Given the description of an element on the screen output the (x, y) to click on. 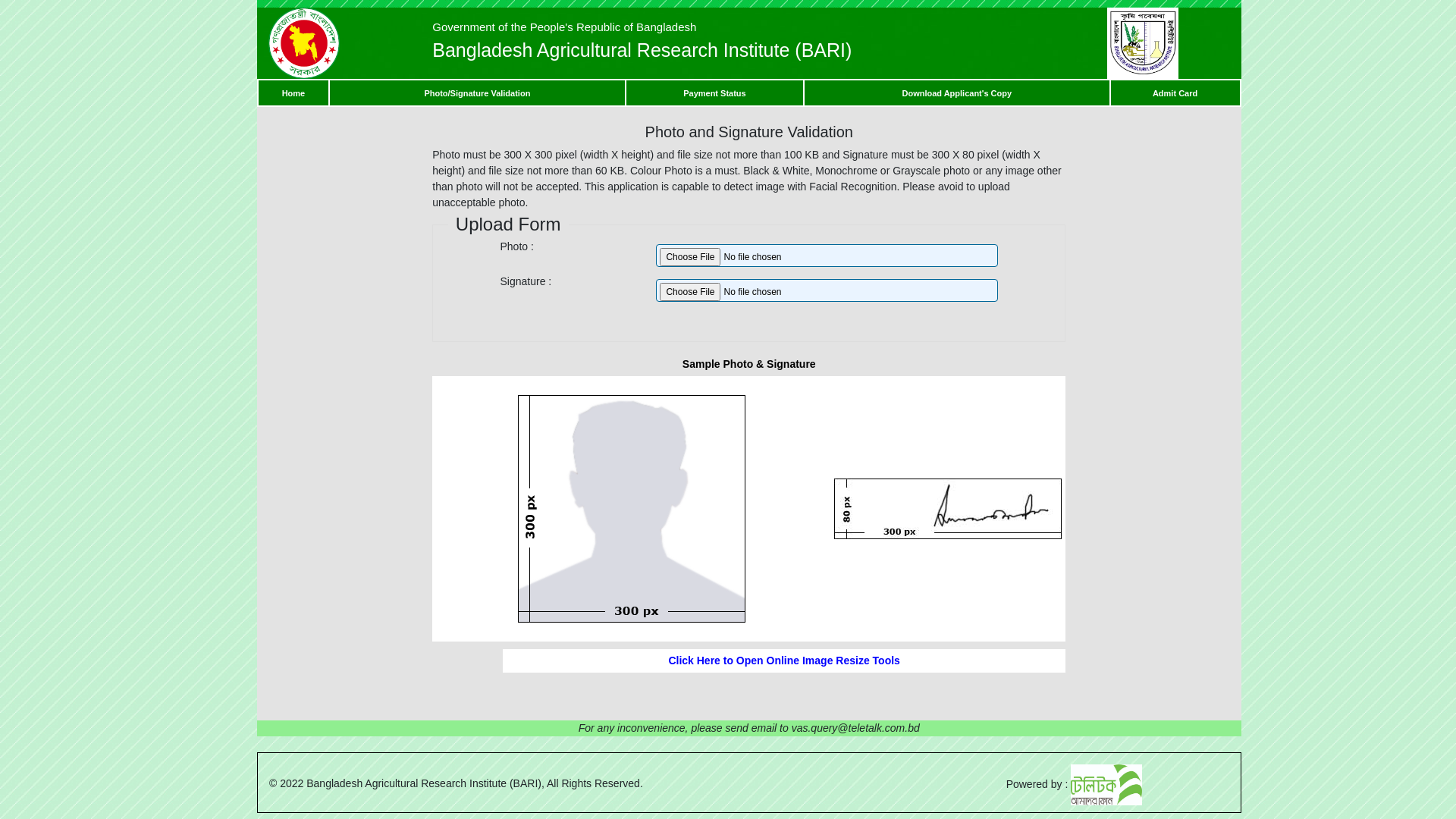
Photo/Signature Validation Element type: text (476, 92)
Admit Card Element type: text (1174, 92)
Download Applicant's Copy Element type: text (956, 92)
Payment Status Element type: text (714, 92)
Home Element type: text (293, 92)
Click Here to Open Online Image Resize Tools Element type: text (783, 660)
